Given the description of an element on the screen output the (x, y) to click on. 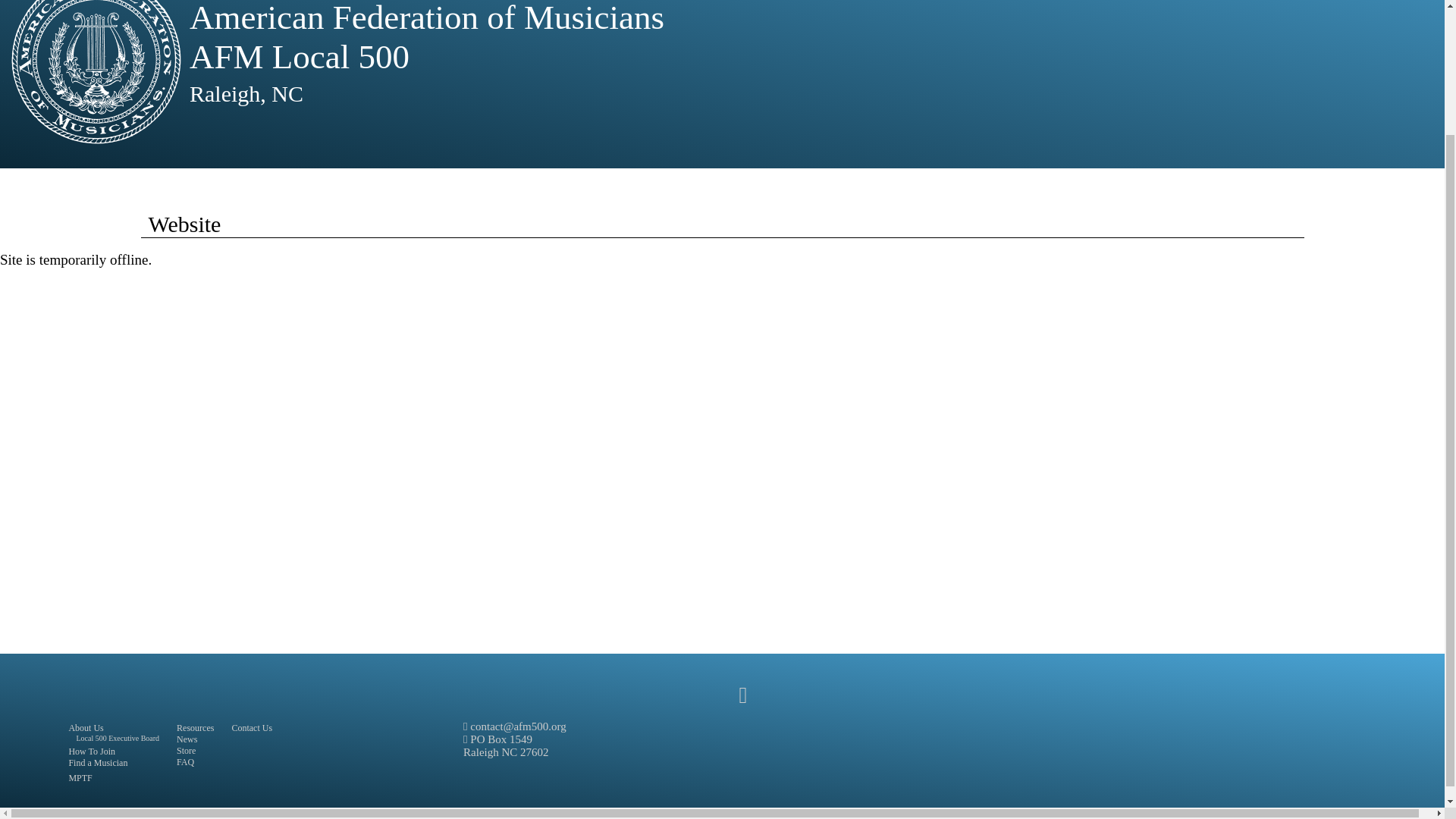
News (186, 738)
Local 500 Executive Board (116, 737)
About Us (85, 727)
Find a Musician (98, 762)
How To Join (91, 751)
Contact Us (251, 727)
Resources (195, 727)
Store (185, 750)
FAQ (184, 761)
MPTF (79, 777)
